Given the description of an element on the screen output the (x, y) to click on. 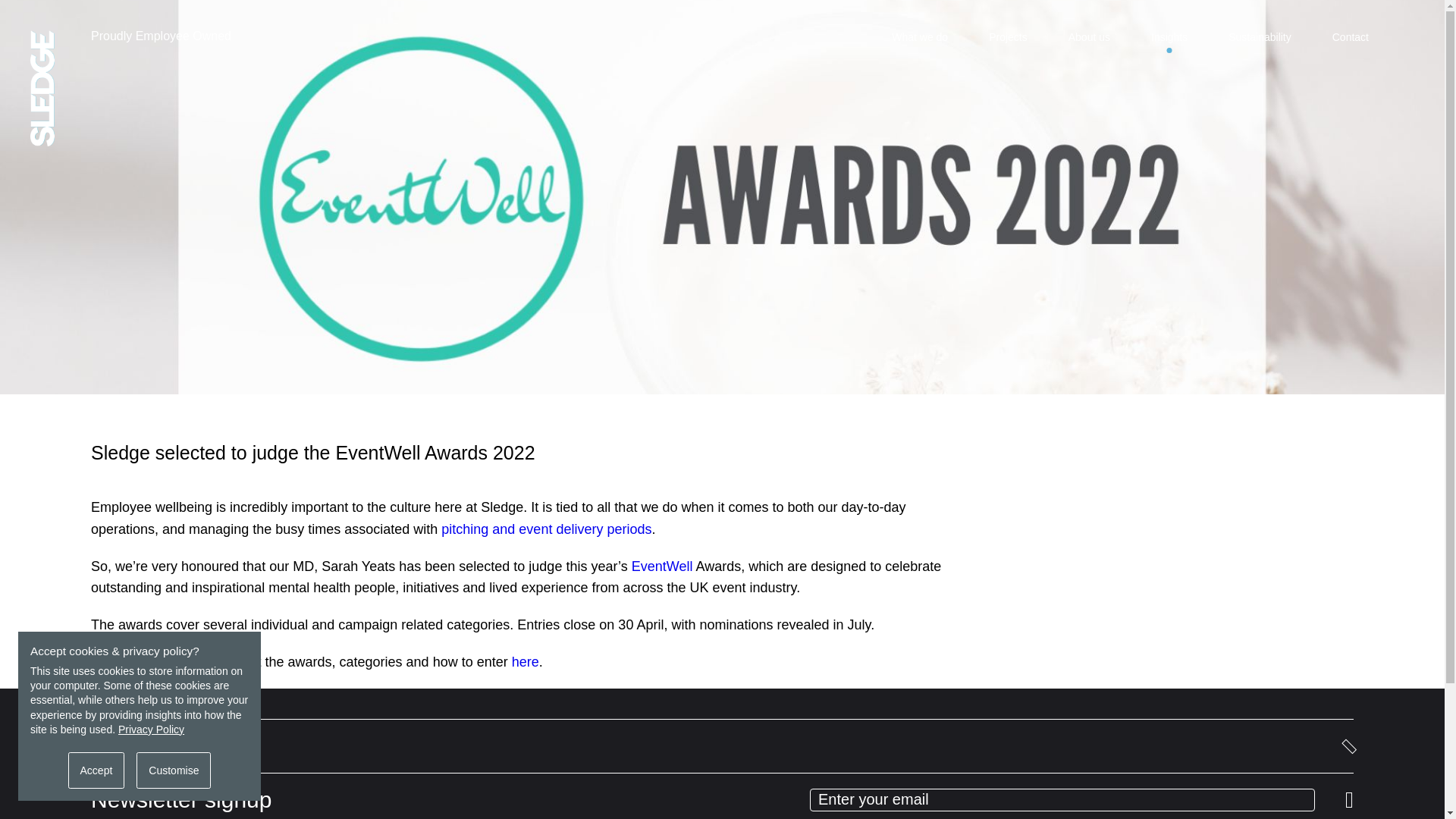
Get in touch (722, 746)
Projects (1007, 36)
EventWell (662, 566)
Privacy Policy (150, 729)
Sustainability (1259, 36)
here (525, 661)
About us (1088, 36)
pitching and event delivery periods (545, 529)
What we do (919, 36)
Contact (1350, 36)
Insights (1169, 45)
Accept (96, 770)
Customise (173, 770)
